Given the description of an element on the screen output the (x, y) to click on. 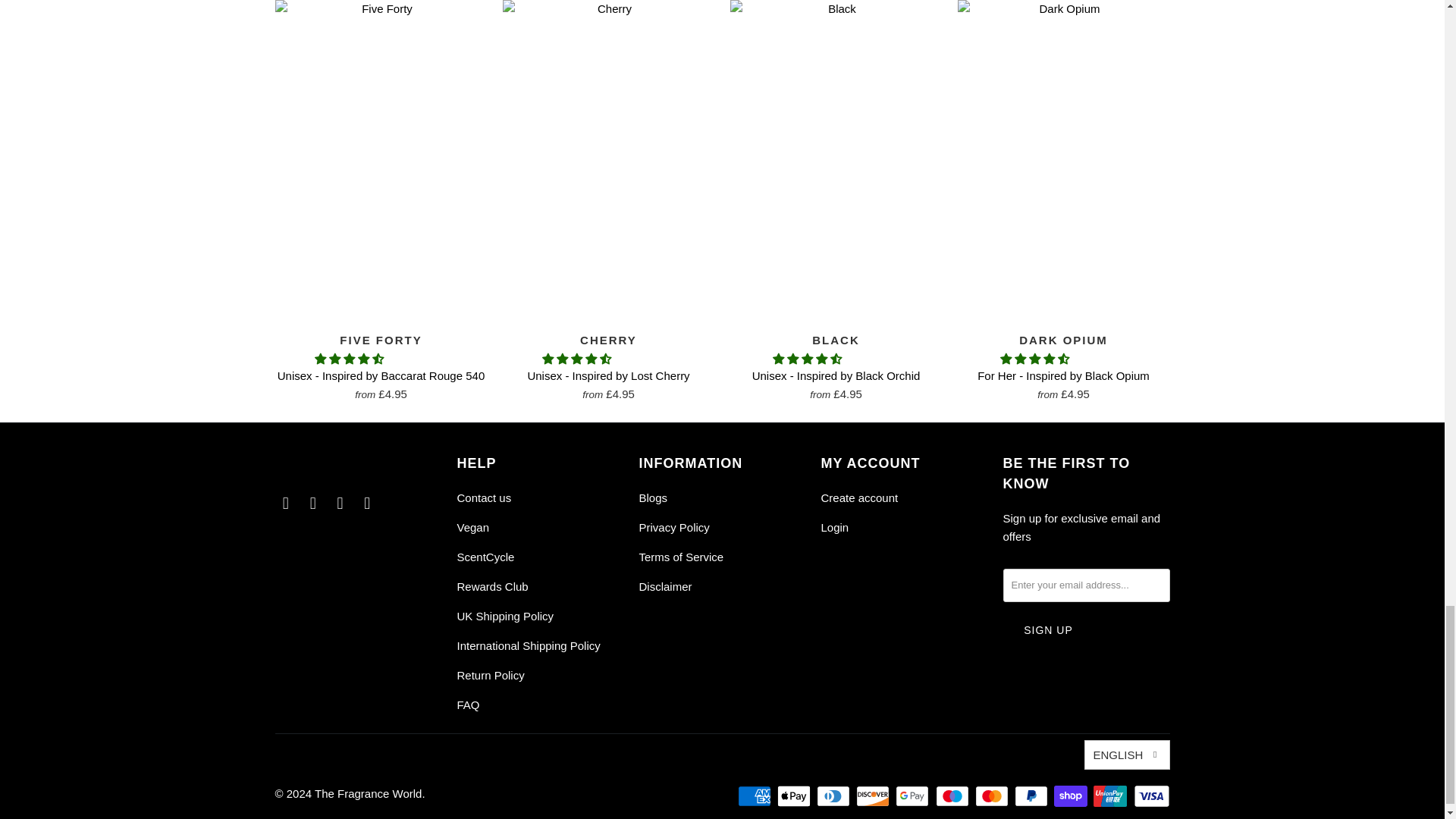
PayPal (1032, 795)
The Fragrance World on Facebook (286, 503)
Apple Pay (795, 795)
Discover (874, 795)
Email The Fragrance World (367, 503)
Sign Up (1048, 630)
Mastercard (993, 795)
Maestro (954, 795)
Shop Pay (1072, 795)
Diners Club (834, 795)
